Given the description of an element on the screen output the (x, y) to click on. 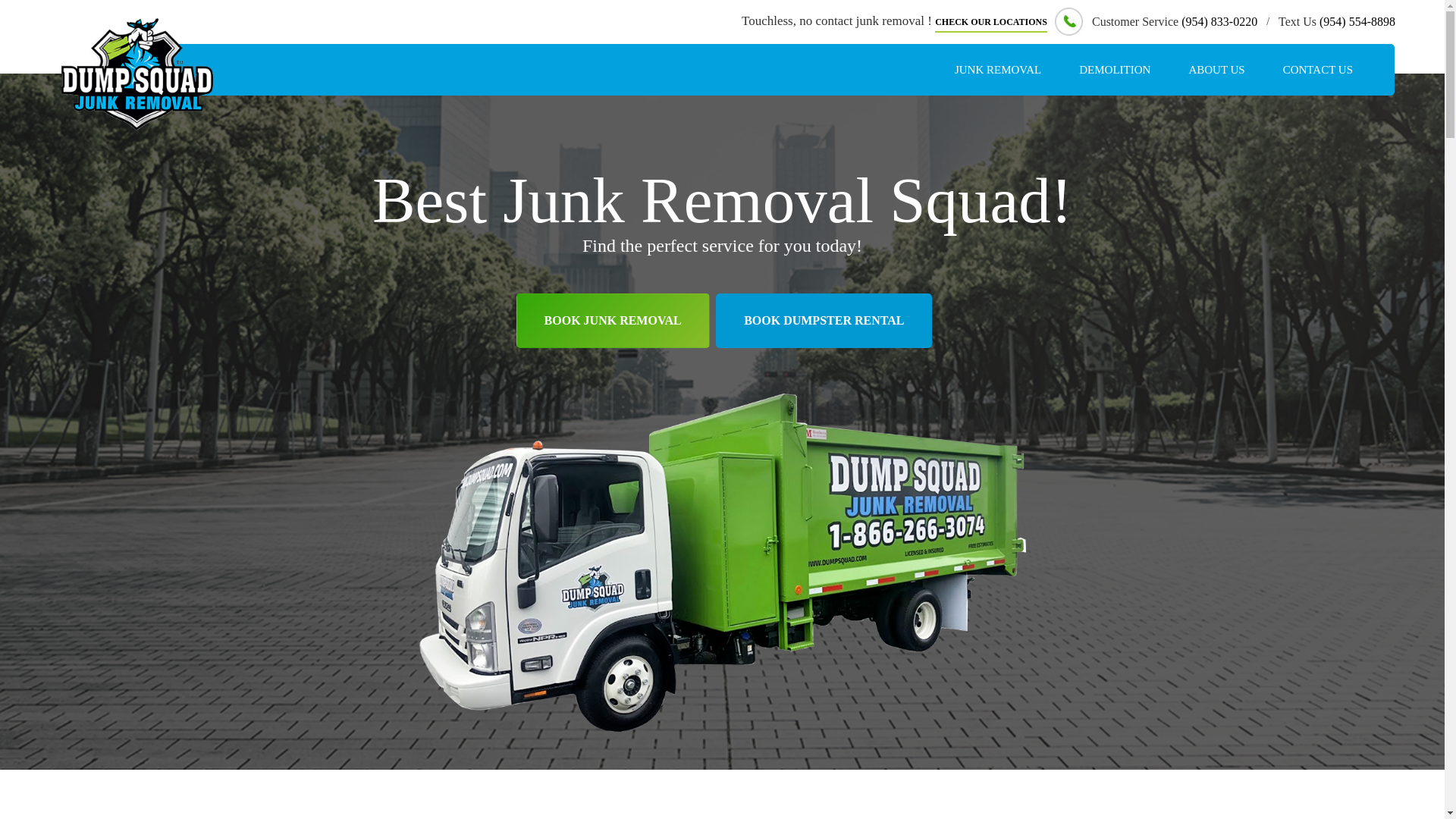
DEMOLITION (1114, 69)
CHECK OUR LOCATIONS (990, 24)
BOOK JUNK REMOVAL (613, 320)
CONTACT US (1317, 69)
JUNK REMOVAL (998, 69)
BOOK DUMPSTER RENTAL (823, 320)
ABOUT US (1216, 69)
